Given the description of an element on the screen output the (x, y) to click on. 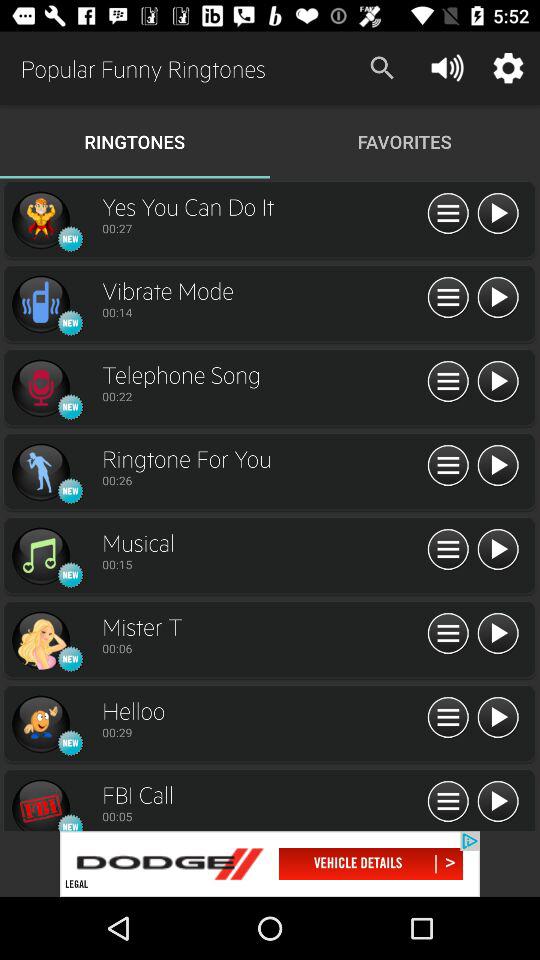
play musical ringtone (497, 549)
